Given the description of an element on the screen output the (x, y) to click on. 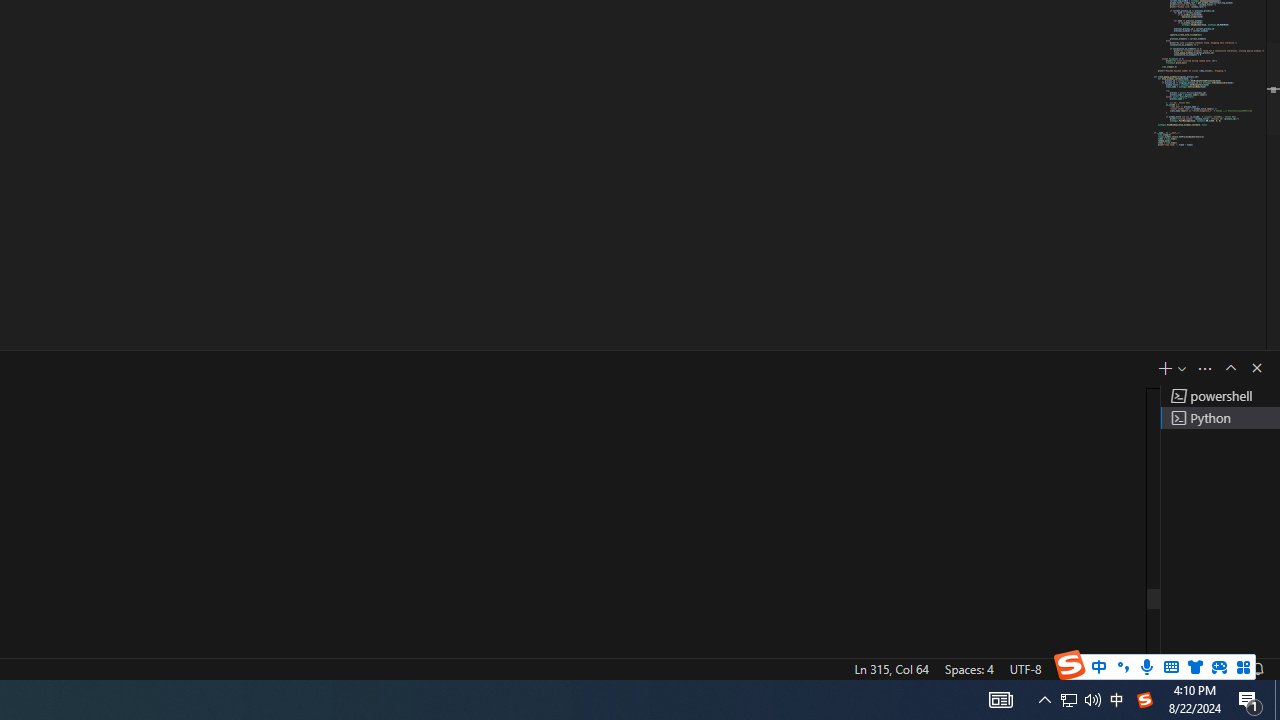
UTF-8 (1025, 668)
Maximize Panel Size (1230, 367)
